Given the description of an element on the screen output the (x, y) to click on. 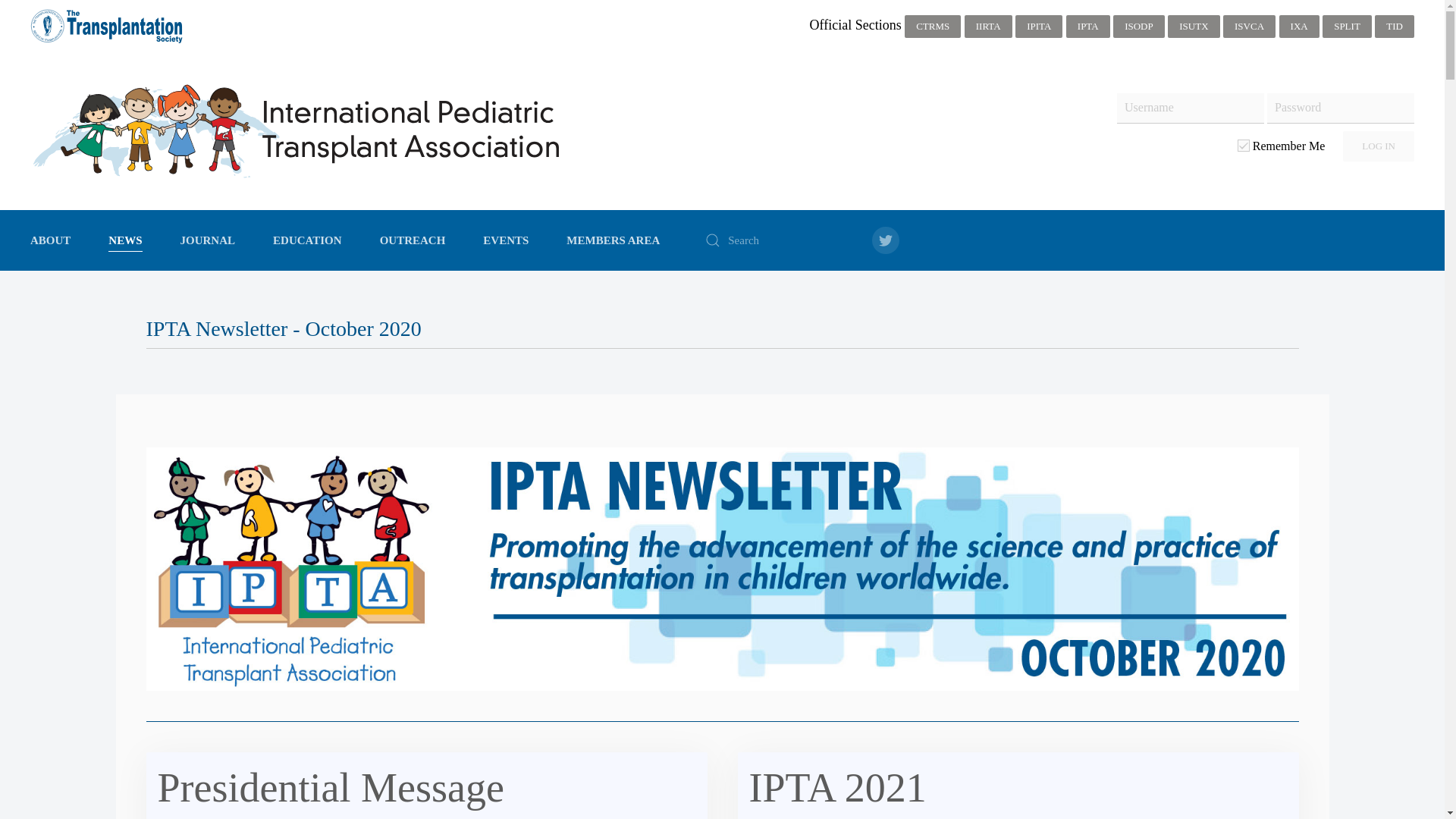
ISODP (1138, 26)
IIRTA (987, 26)
ISUTX (1193, 26)
yes (1243, 145)
IPITA (1038, 26)
SPLIT (1346, 26)
ABOUT (49, 240)
TID (1393, 26)
CTRMS (932, 26)
IXA (1299, 26)
ISVCA (1249, 26)
LOG IN (1377, 146)
IPTA (1087, 26)
